Given the description of an element on the screen output the (x, y) to click on. 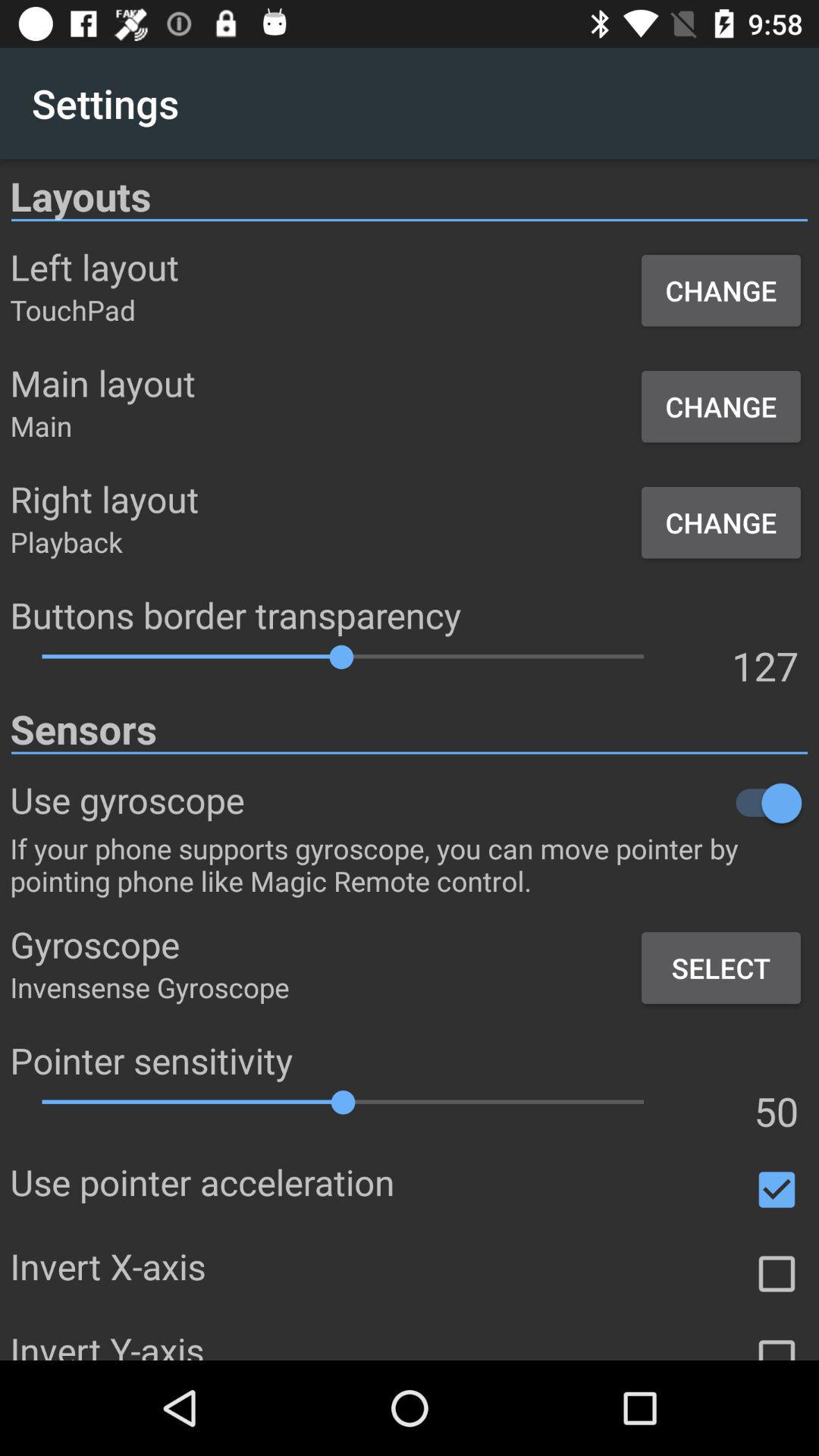
turn off gyroscope (526, 802)
